Given the description of an element on the screen output the (x, y) to click on. 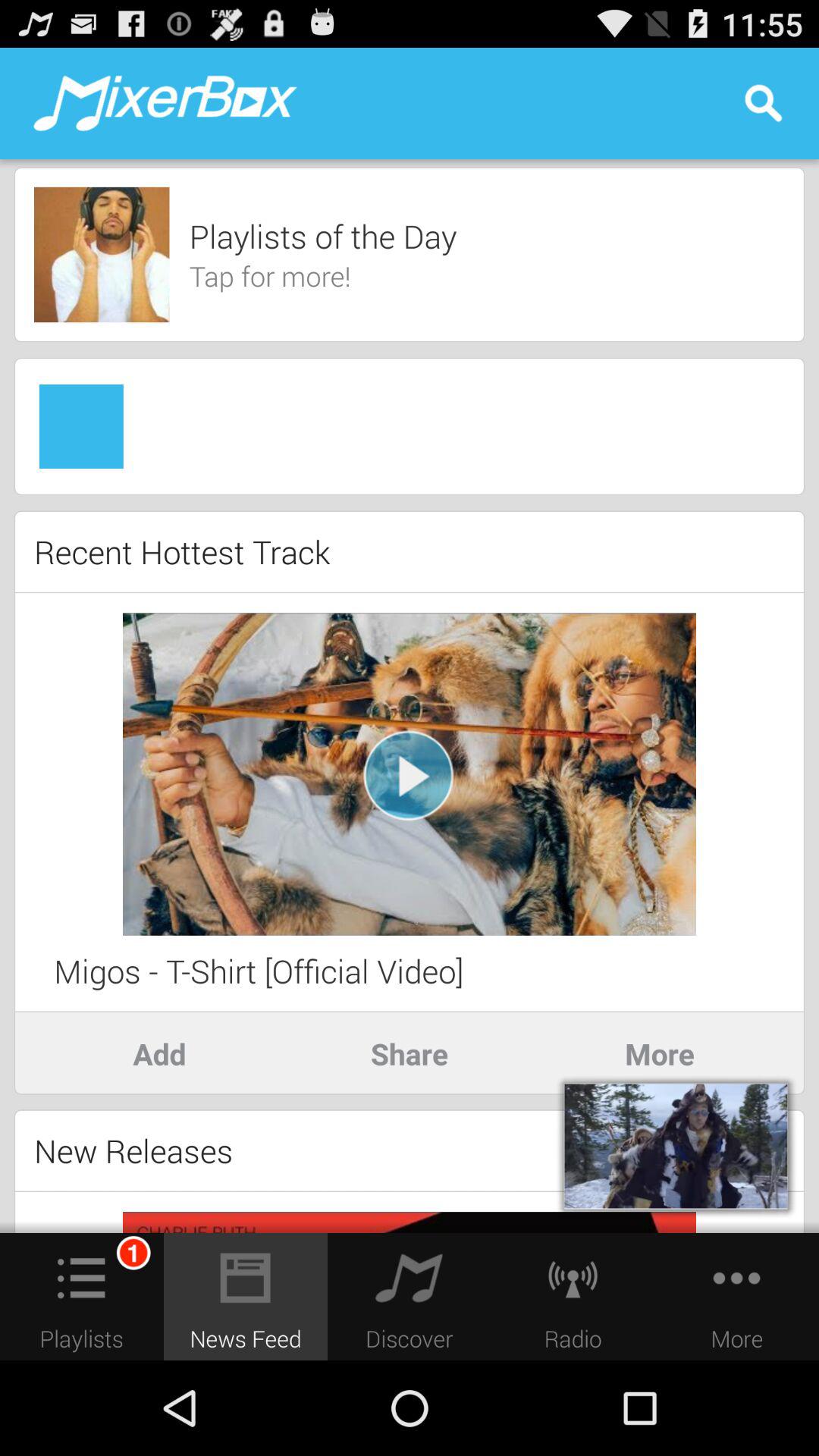
select item below migos t shirt icon (409, 1053)
